Given the description of an element on the screen output the (x, y) to click on. 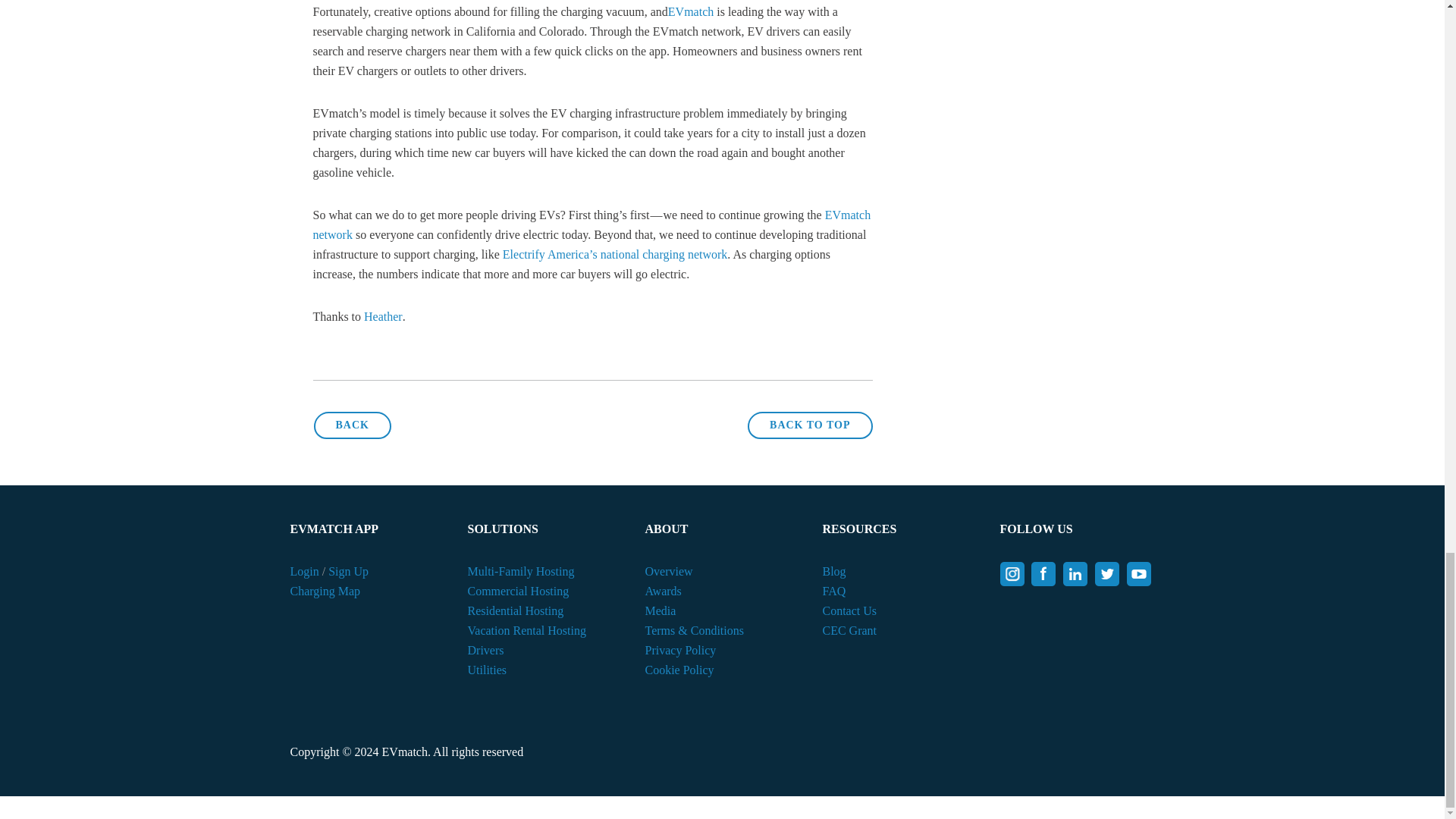
social-instagram (1010, 573)
